Given the description of an element on the screen output the (x, y) to click on. 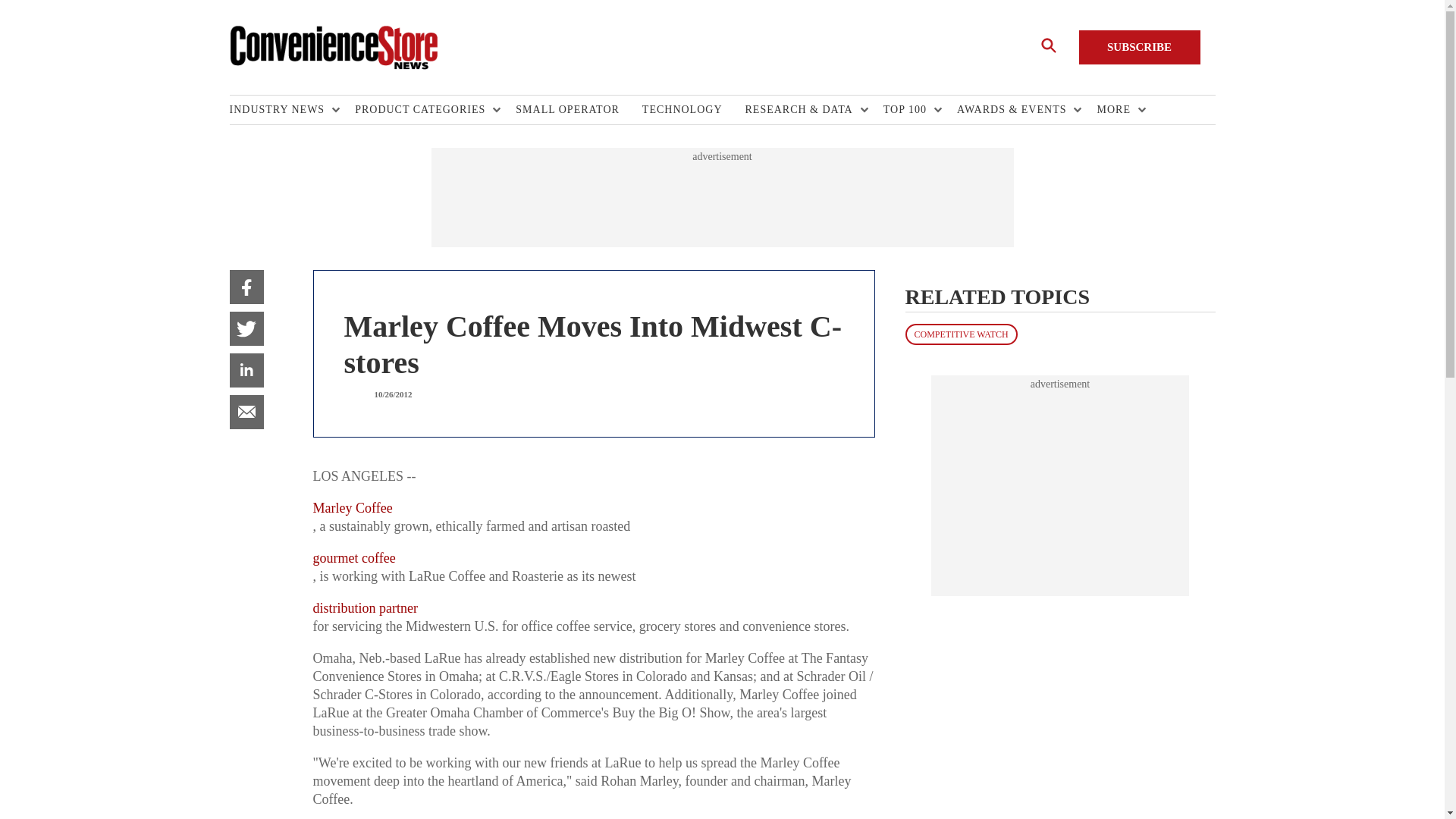
facebook (245, 286)
SMALL OPERATOR (578, 109)
PRODUCT CATEGORIES (424, 109)
3rd party ad content (721, 197)
email (245, 411)
INDUSTRY NEWS (279, 109)
TOP 100 (908, 109)
SUBSCRIBE (1138, 47)
twitter (245, 328)
3rd party ad content (1059, 485)
linkedIn (245, 369)
TECHNOLOGY (693, 109)
